Given the description of an element on the screen output the (x, y) to click on. 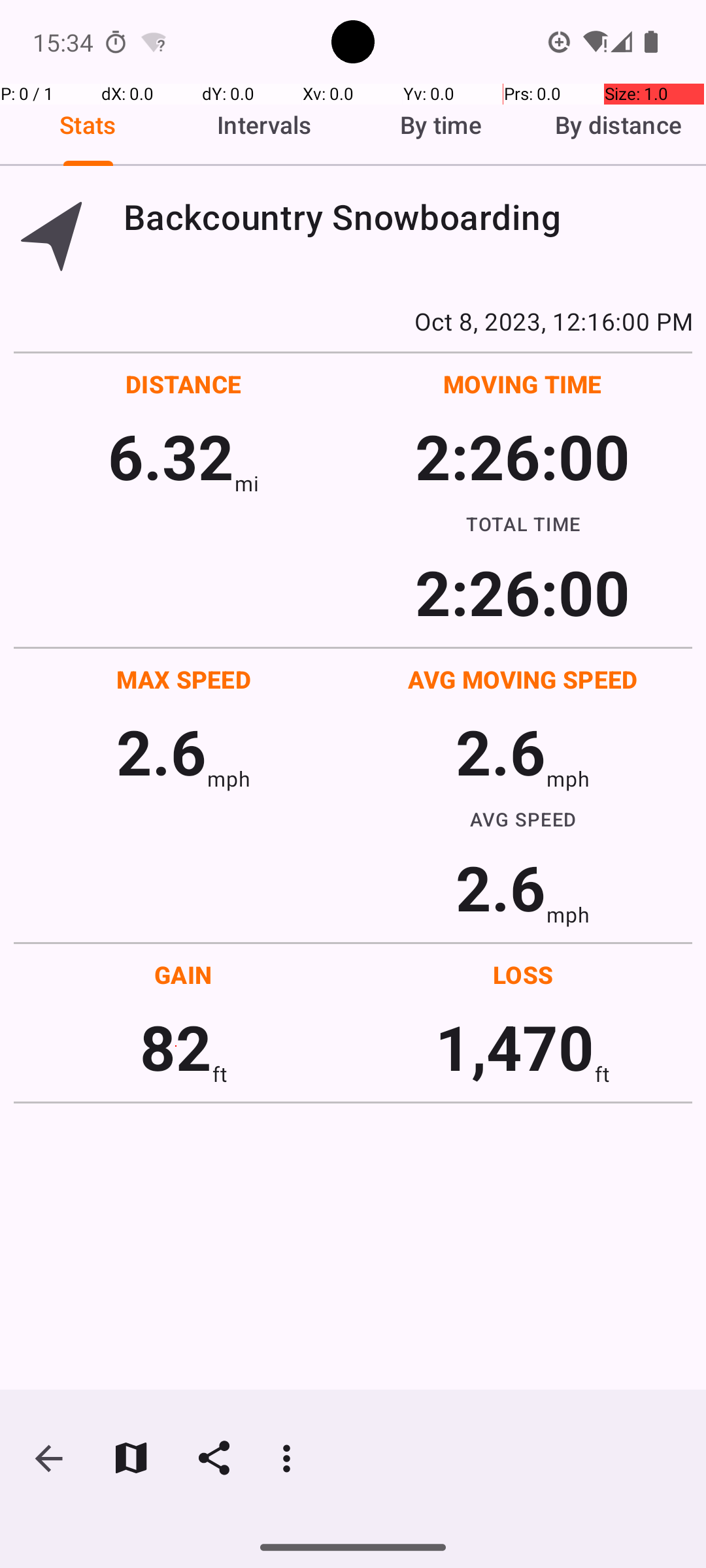
Backcountry Snowboarding Element type: android.widget.TextView (407, 216)
Oct 8, 2023, 12:16:00 PM Element type: android.widget.TextView (352, 320)
6.32 Element type: android.widget.TextView (170, 455)
2:26:00 Element type: android.widget.TextView (522, 455)
2.6 Element type: android.widget.TextView (161, 750)
82 Element type: android.widget.TextView (175, 1045)
1,470 Element type: android.widget.TextView (514, 1045)
